Given the description of an element on the screen output the (x, y) to click on. 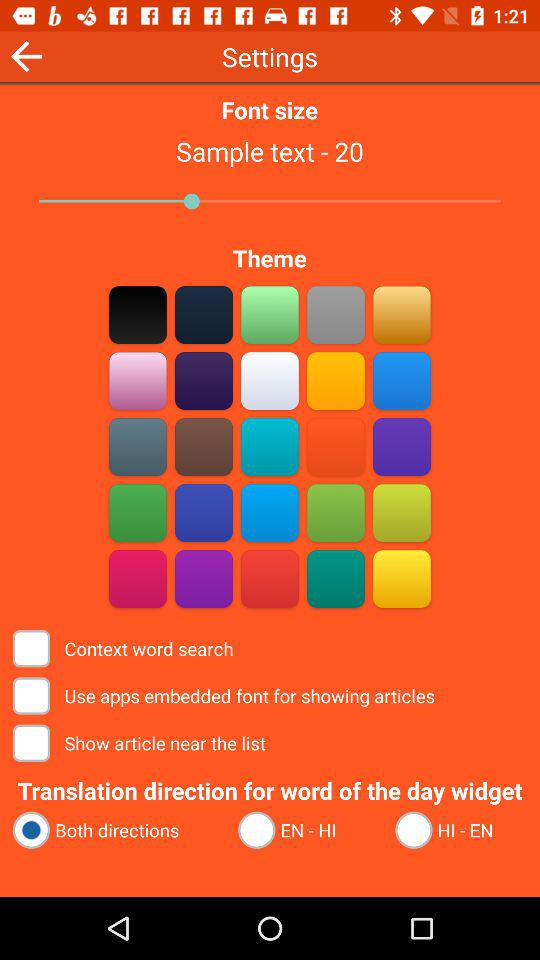
click the context word search item (124, 648)
